Given the description of an element on the screen output the (x, y) to click on. 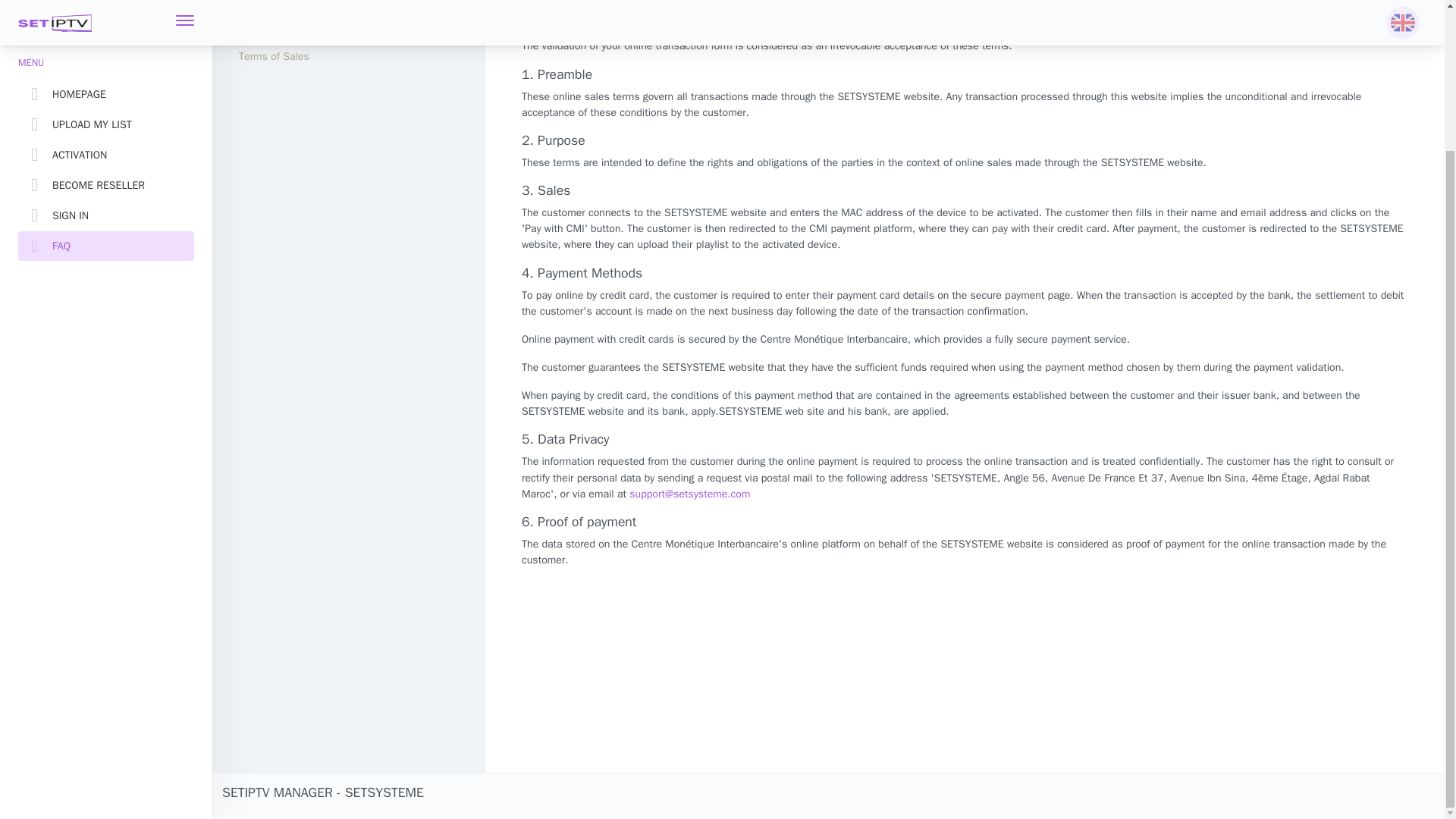
SIGN IN (105, 40)
Privacy Policy (350, 27)
FAQ (105, 70)
Frequently Asked Questions (350, 5)
Terms of Sales (350, 55)
BECOME RESELLER (105, 12)
